Given the description of an element on the screen output the (x, y) to click on. 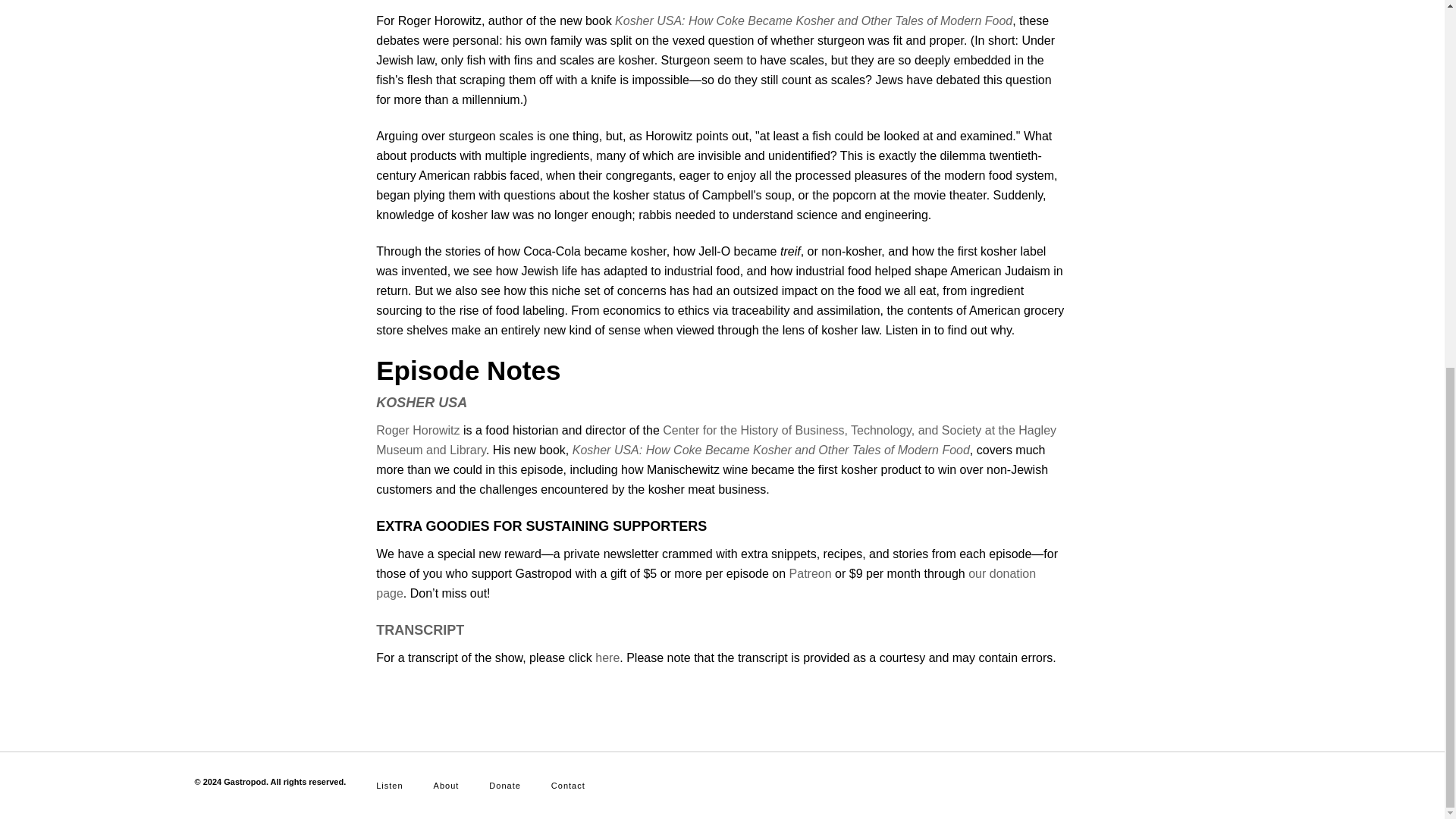
Gastropod (245, 781)
Roger Horowitz (417, 430)
KOSHER USA (421, 402)
